Given the description of an element on the screen output the (x, y) to click on. 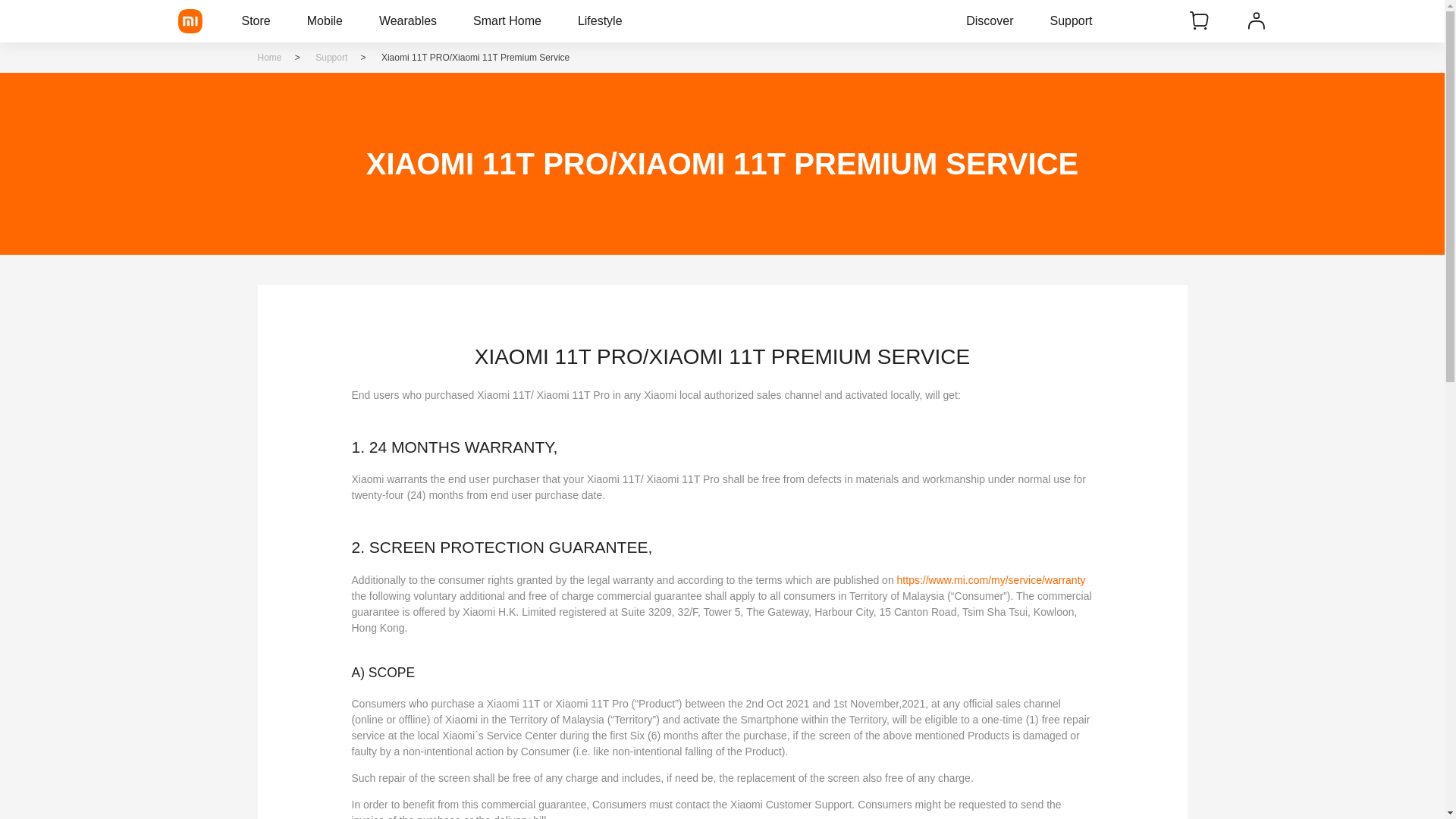
Store (255, 21)
Mobile (325, 21)
Smart Home (507, 21)
Lifestyle (600, 21)
Wearables (407, 21)
